Given the description of an element on the screen output the (x, y) to click on. 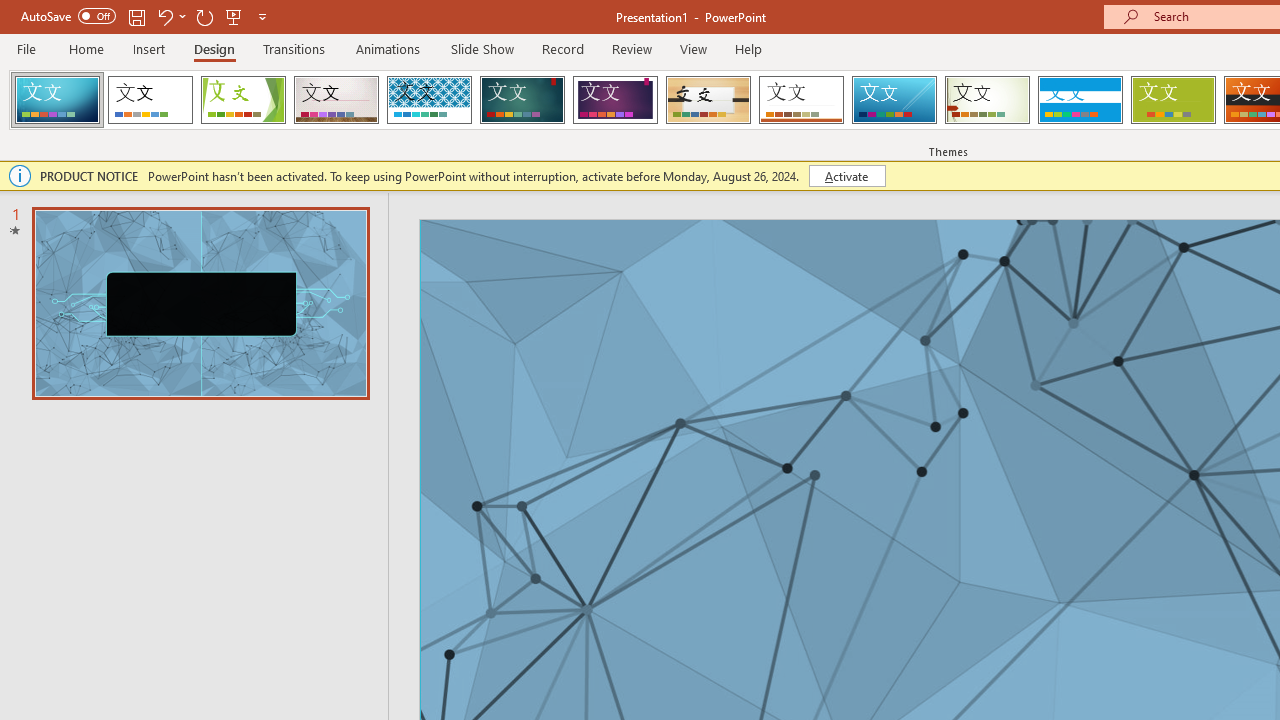
Wisp (987, 100)
FadeVTI (57, 100)
Basis (1172, 100)
Slice (893, 100)
